Given the description of an element on the screen output the (x, y) to click on. 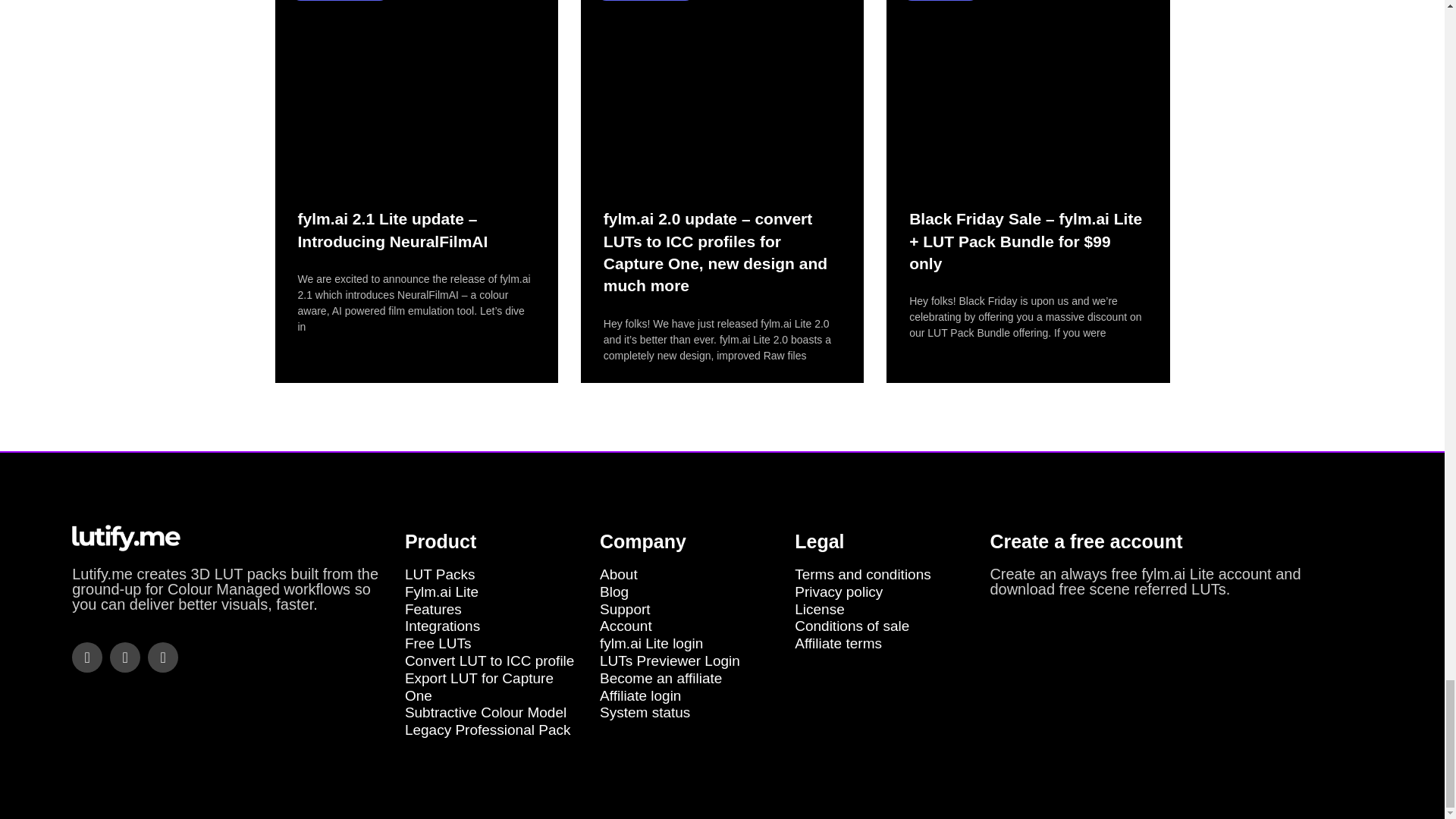
Features (494, 610)
Twitter (124, 657)
Integrations (494, 626)
Convert LUT to ICC profile (494, 661)
Export LUT for Capture One (494, 687)
LUT Packs (494, 574)
Free LUTs (494, 643)
Facebook-f (86, 657)
Fylm.ai Lite (494, 592)
Instagram (162, 657)
